Given the description of an element on the screen output the (x, y) to click on. 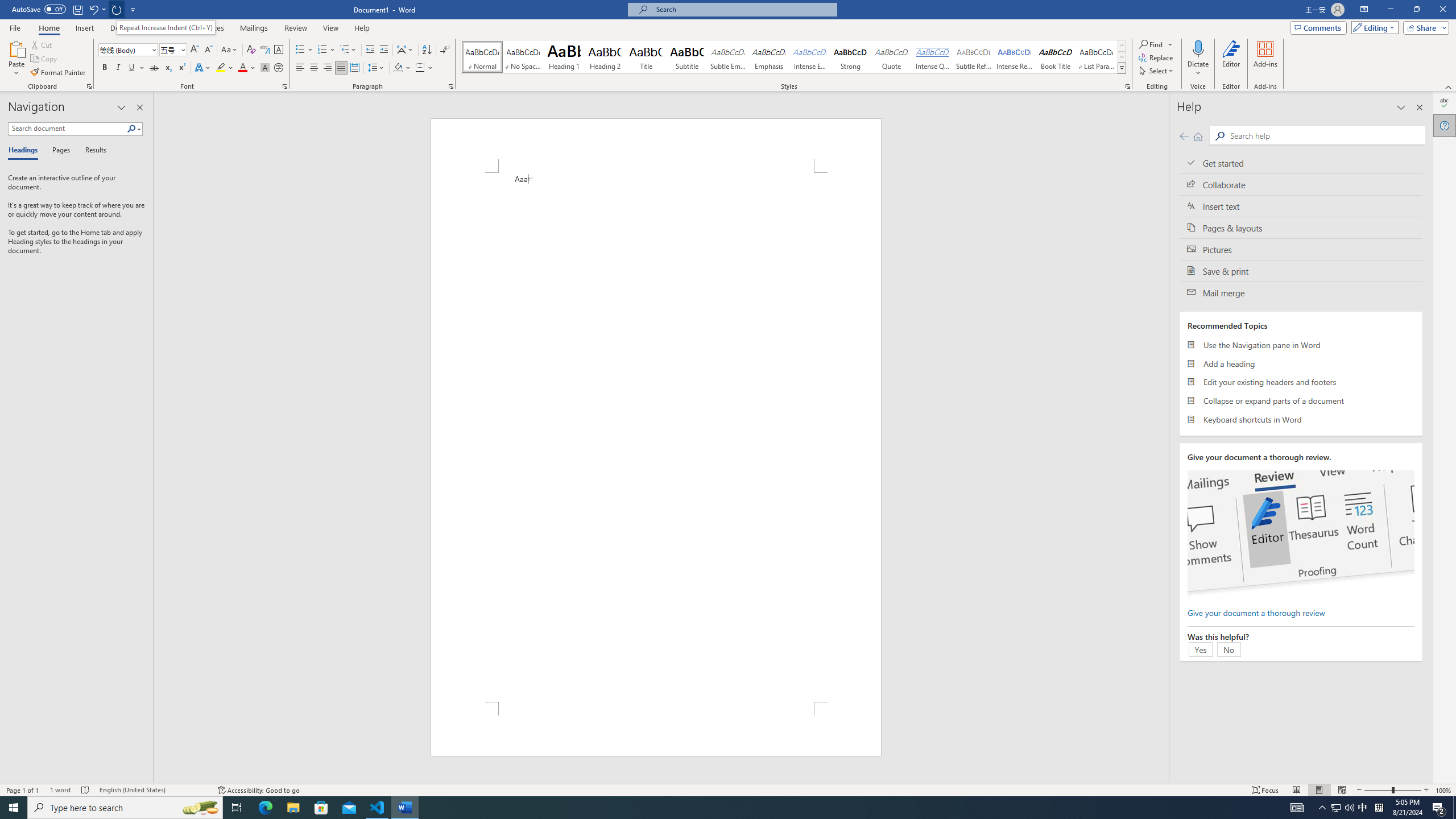
Use the Navigation pane in Word (1300, 344)
Accessibility Checker Accessibility: Good to go (258, 790)
Intense Quote (932, 56)
